Given the description of an element on the screen output the (x, y) to click on. 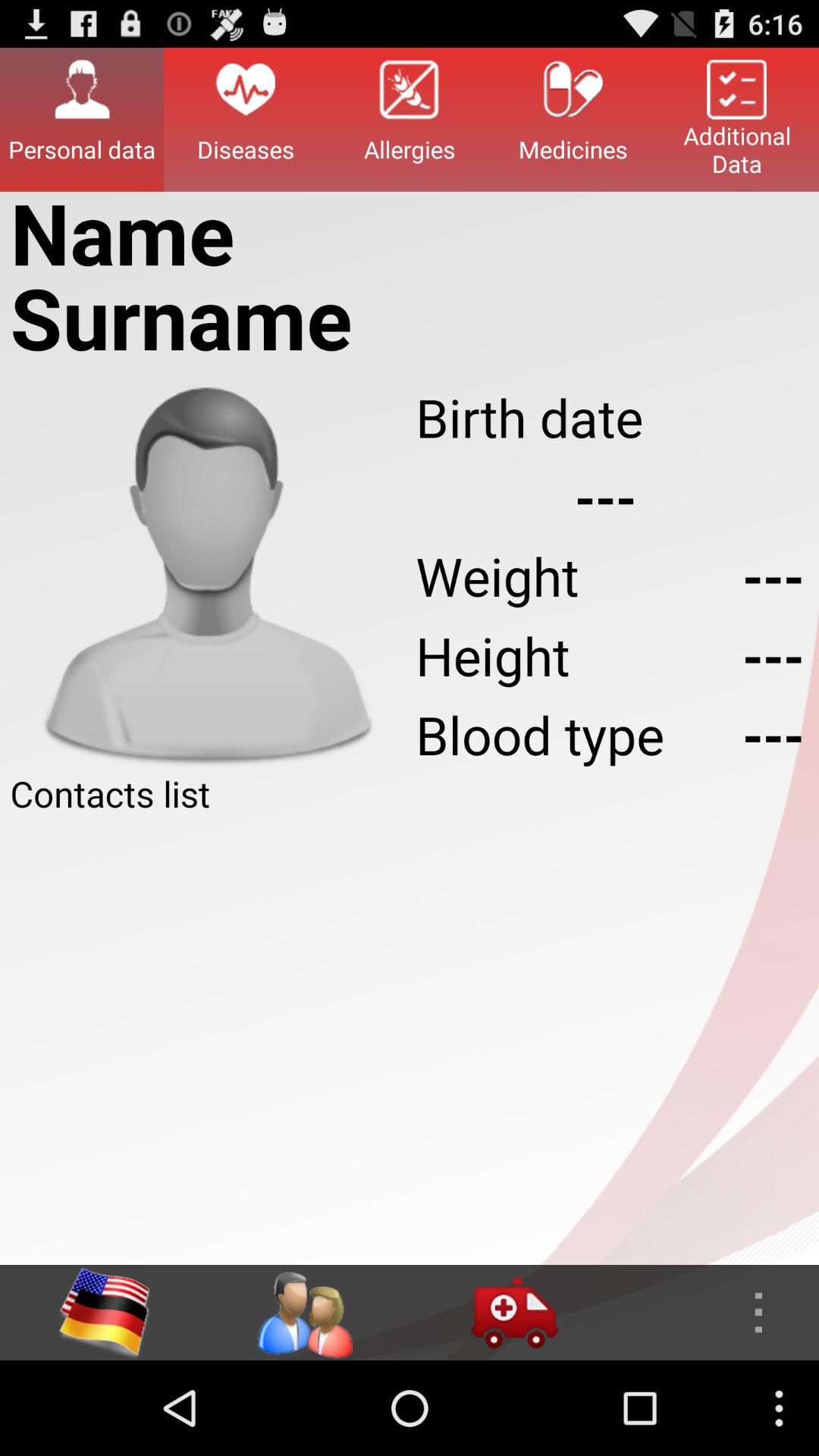
turn on the icon to the right of the diseases (409, 119)
